Given the description of an element on the screen output the (x, y) to click on. 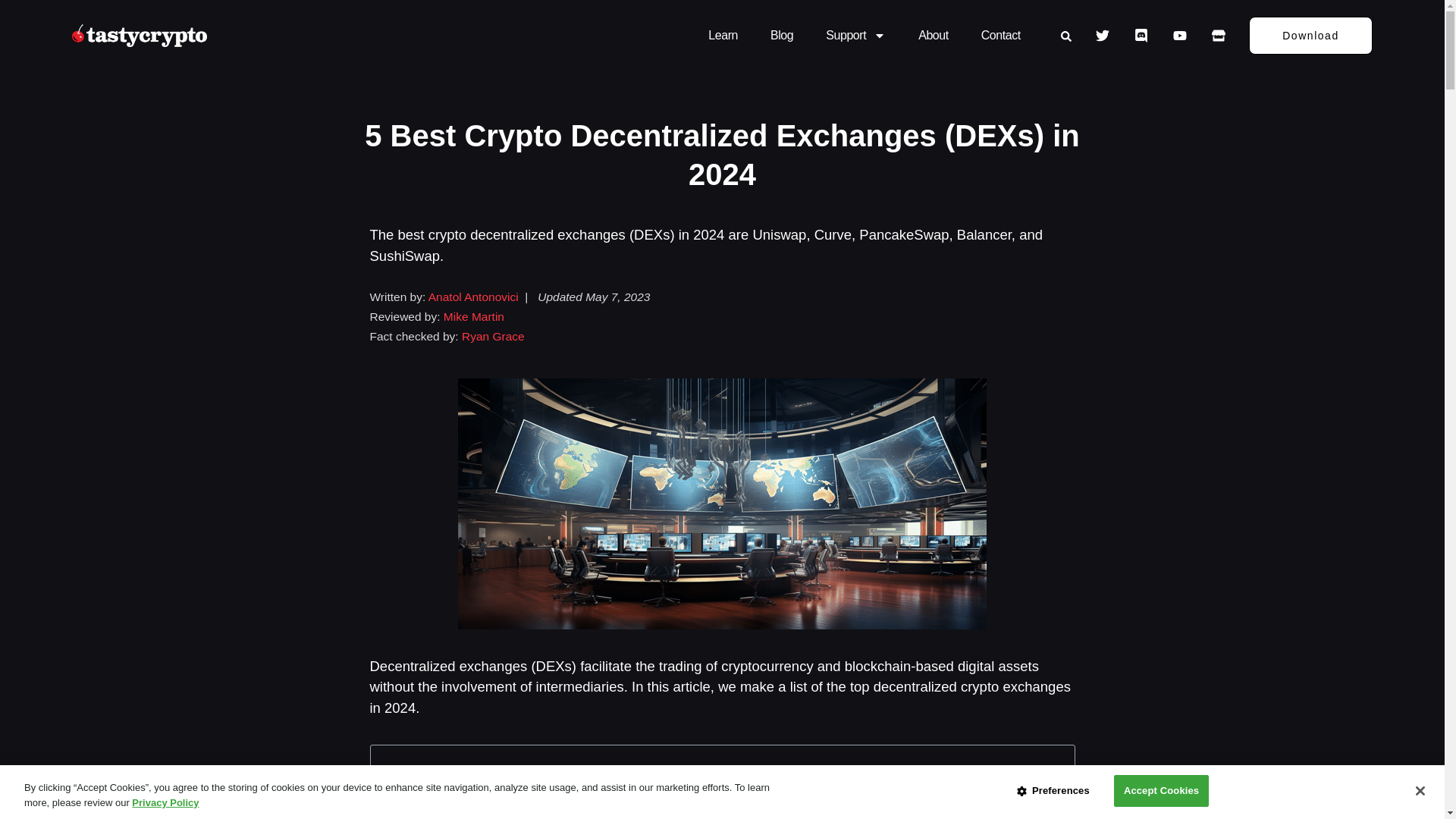
Download (1311, 35)
Contact (1000, 35)
Learn (722, 35)
Blog (781, 35)
About (933, 35)
Support (855, 35)
